Given the description of an element on the screen output the (x, y) to click on. 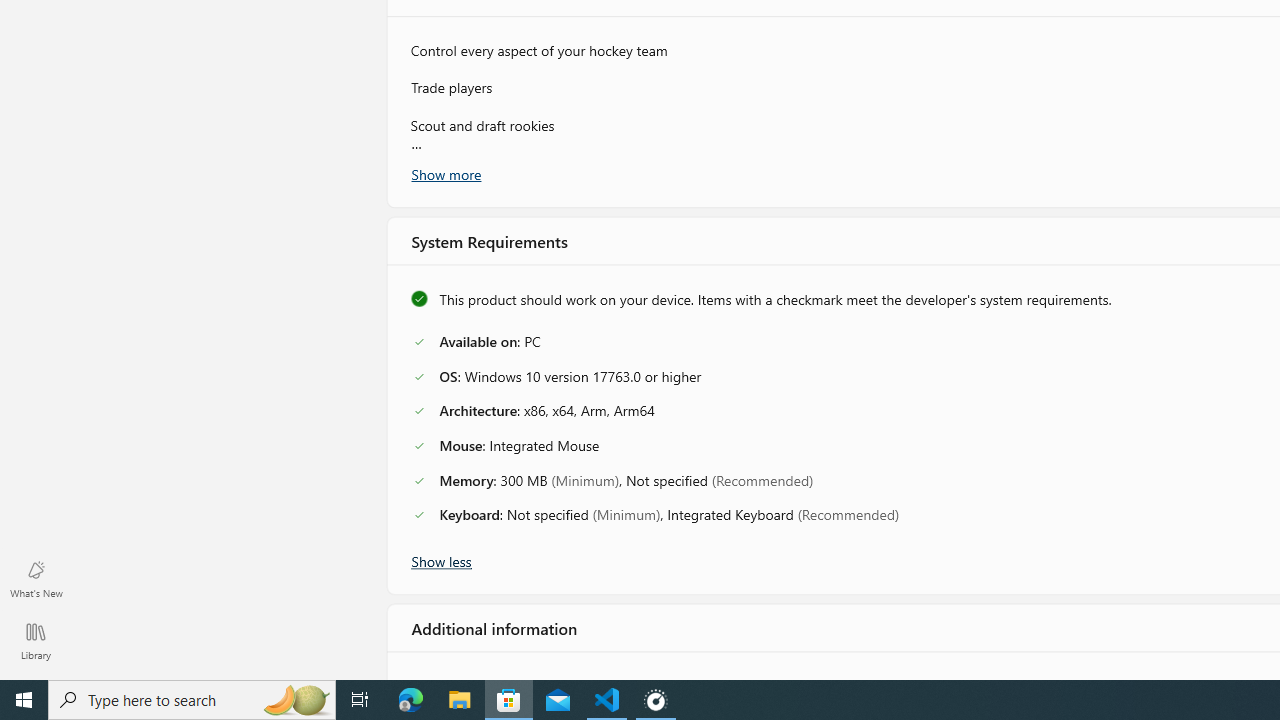
Library (35, 640)
Show less (440, 559)
Show more (445, 173)
What's New (35, 578)
